Given the description of an element on the screen output the (x, y) to click on. 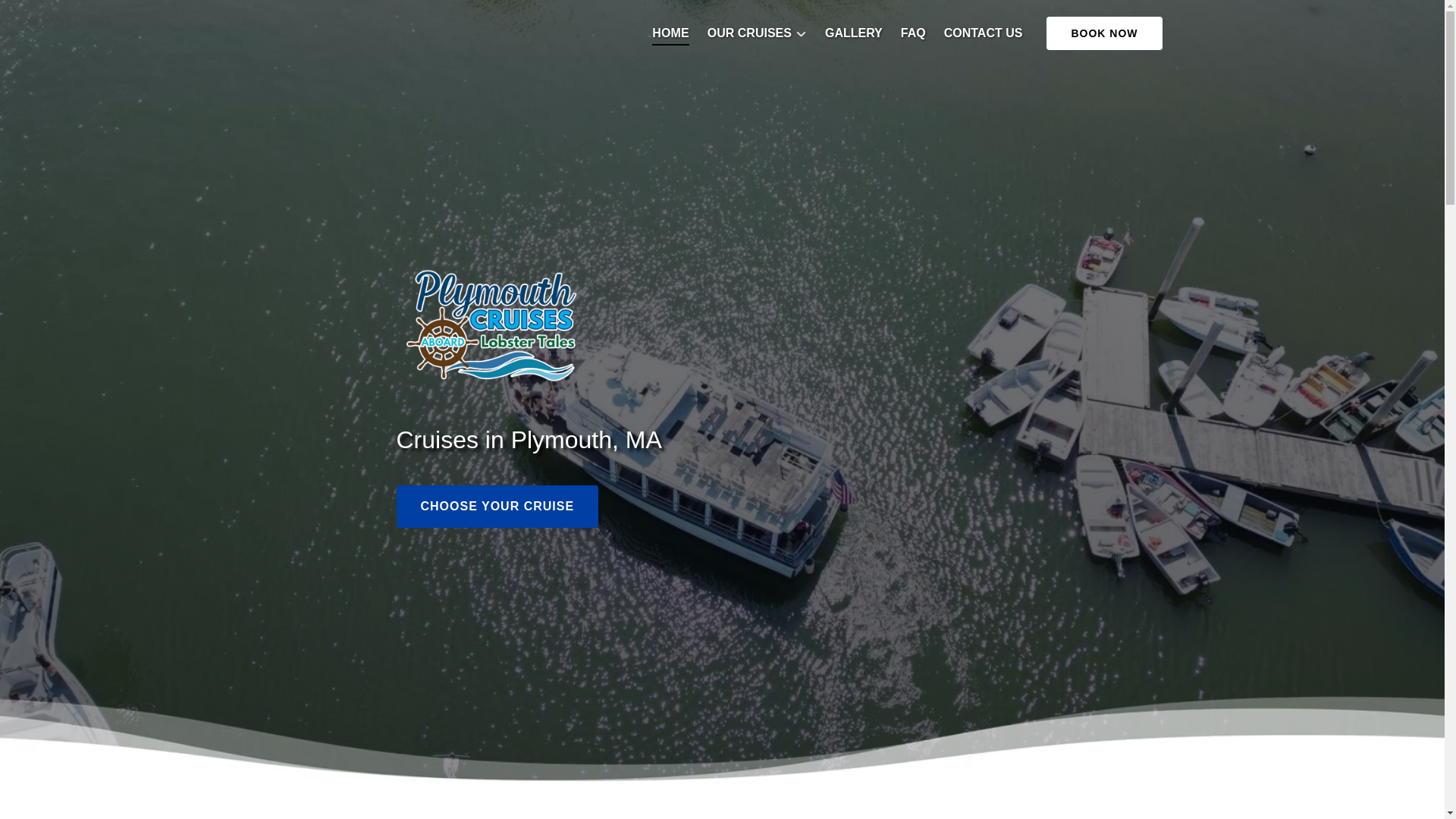
BOOK NOW (1103, 32)
HOME (670, 33)
Skip to content (47, 16)
CHOOSE YOUR CRUISE (497, 463)
Skip to footer (42, 16)
Skip to primary navigation (77, 16)
Open Our Cruises Menu (760, 23)
OUR CRUISES (756, 33)
GALLERY (853, 33)
FAQ (912, 33)
CONTACT US (983, 33)
